Given the description of an element on the screen output the (x, y) to click on. 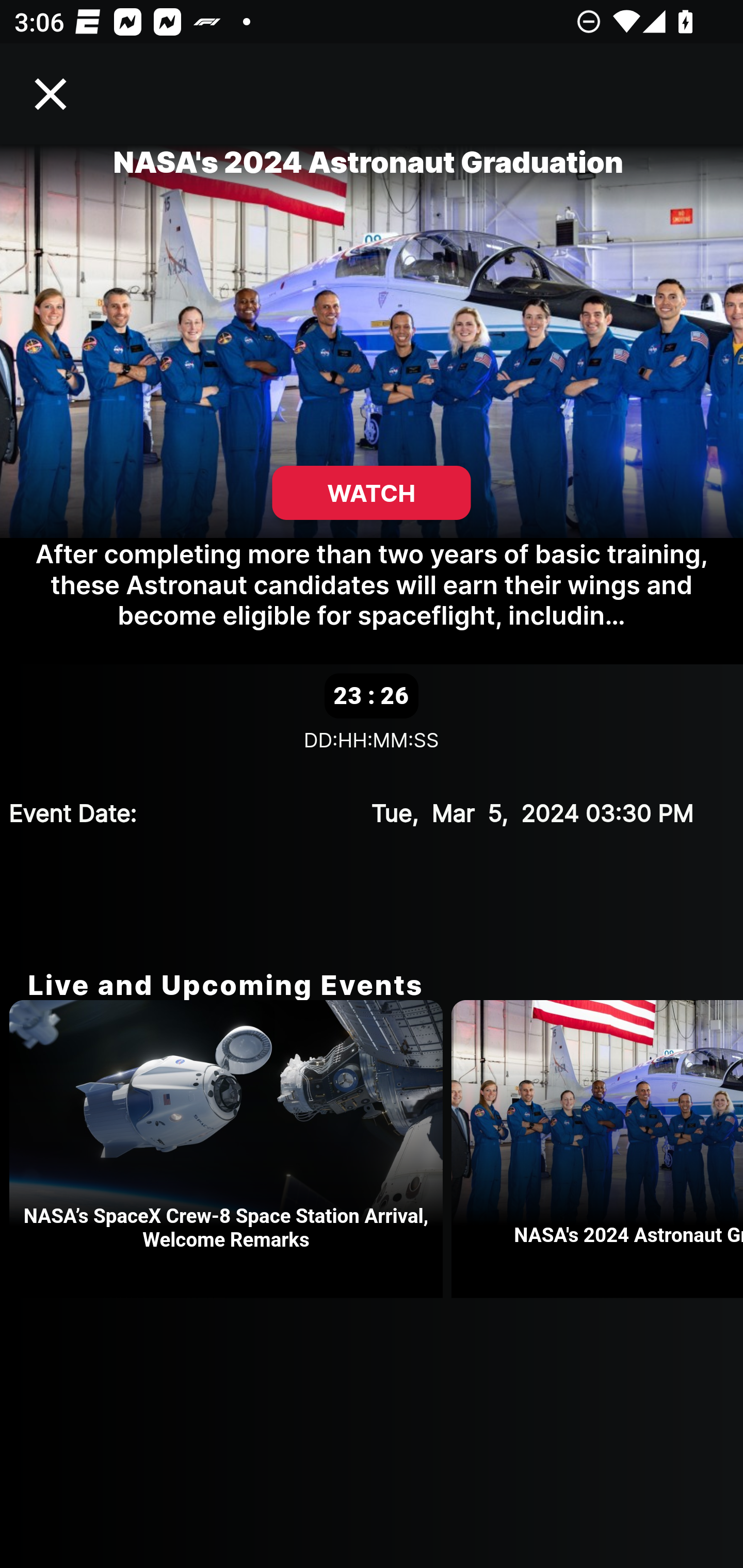
WATCH (371, 492)
NASA's 2024 Astronaut Graduation (597, 1149)
